Given the description of an element on the screen output the (x, y) to click on. 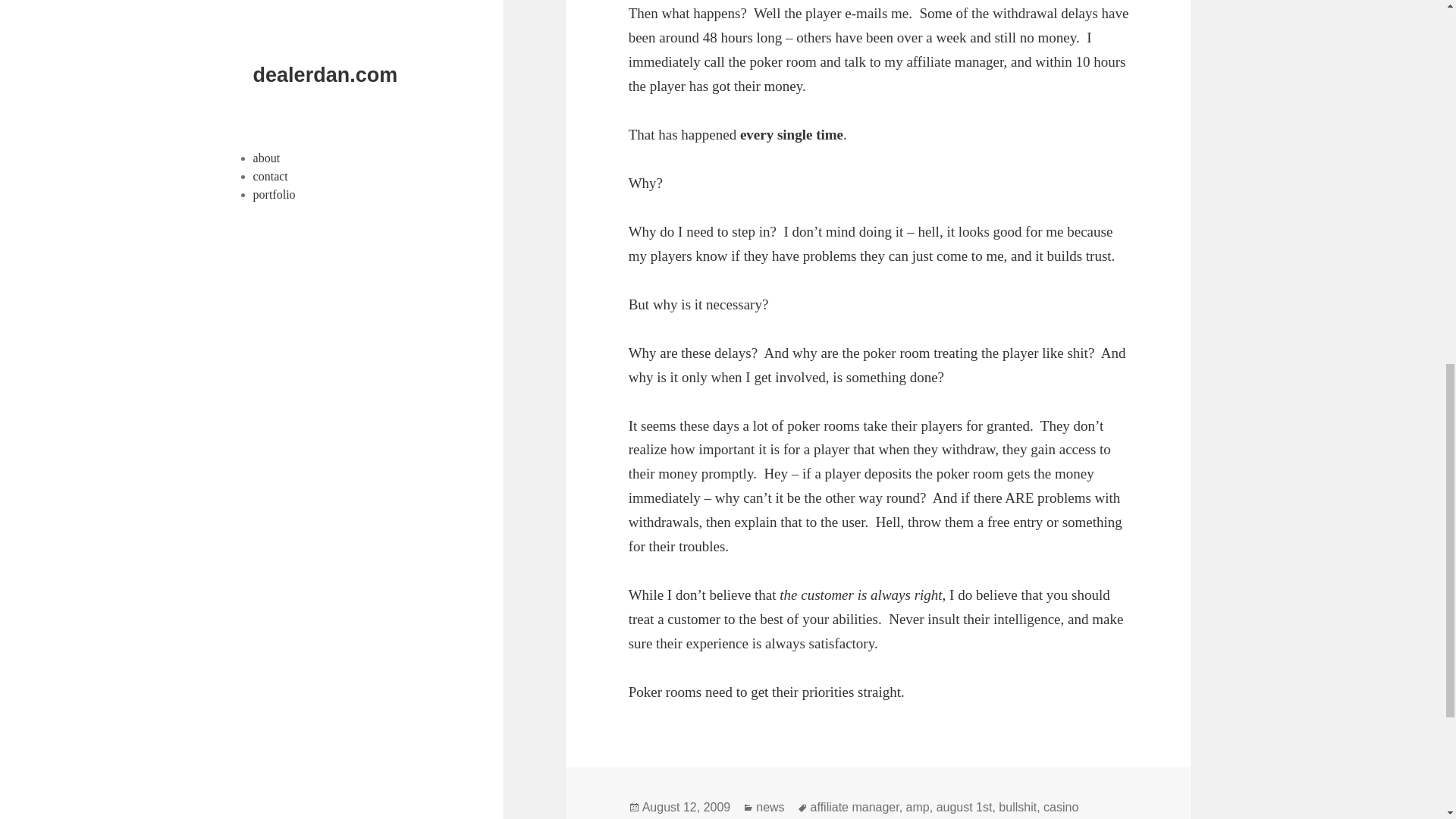
amp (917, 807)
August 12, 2009 (686, 807)
august 1st (964, 807)
bullshit (1017, 807)
affiliate manager (854, 807)
casino affiliates (853, 809)
news (769, 807)
